Given the description of an element on the screen output the (x, y) to click on. 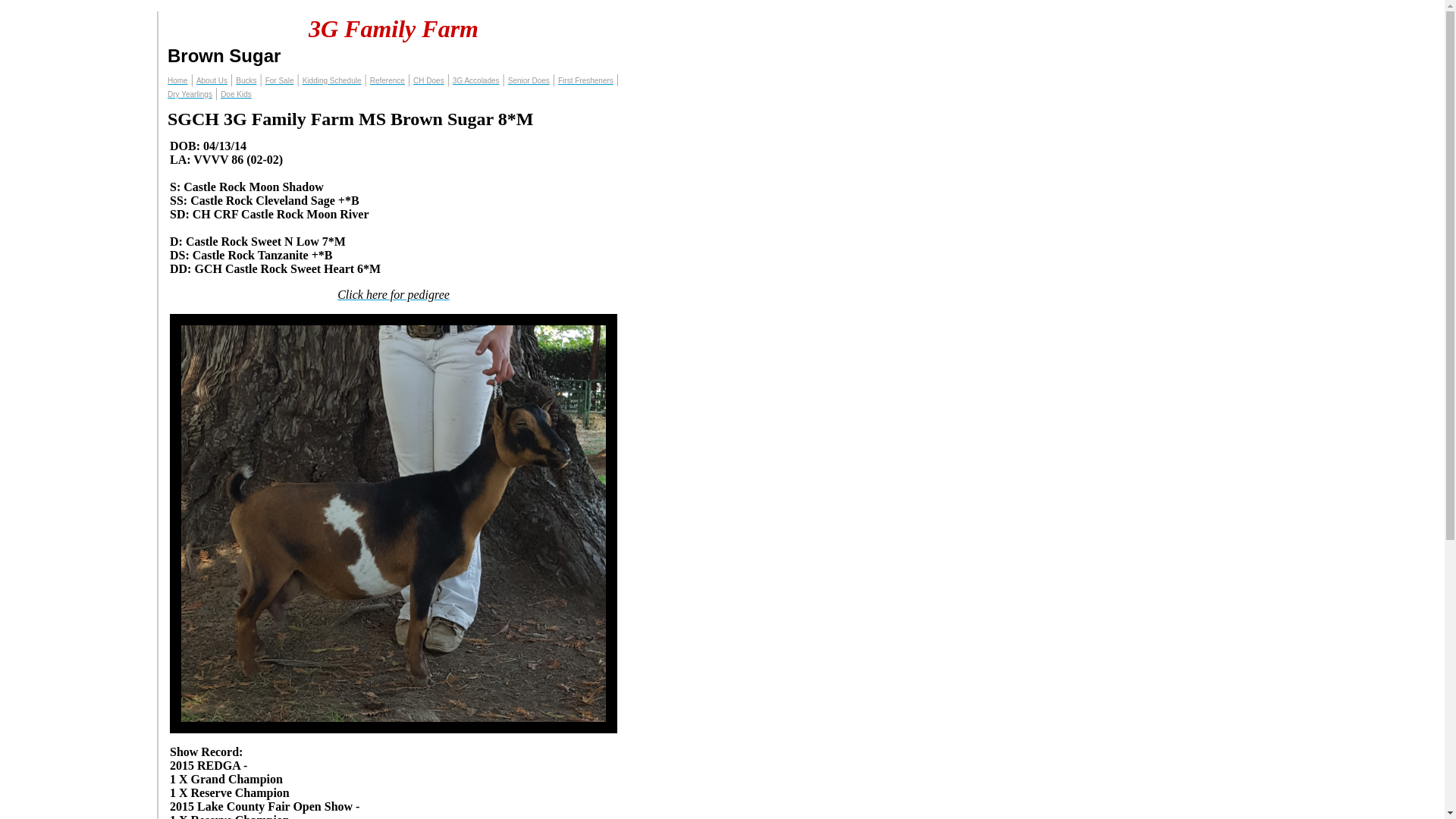
First Fresheners Element type: text (585, 80)
Home Element type: text (177, 80)
For Sale Element type: text (279, 80)
Doe Kids Element type: text (235, 94)
3G Accolades Element type: text (475, 80)
Bucks Element type: text (245, 80)
Kidding Schedule Element type: text (331, 80)
Click here for pedigree Element type: text (393, 294)
About Us Element type: text (211, 80)
CH Does Element type: text (428, 80)
Senior Does Element type: text (528, 80)
Dry Yearlings Element type: text (189, 94)
Reference Element type: text (387, 80)
